Given the description of an element on the screen output the (x, y) to click on. 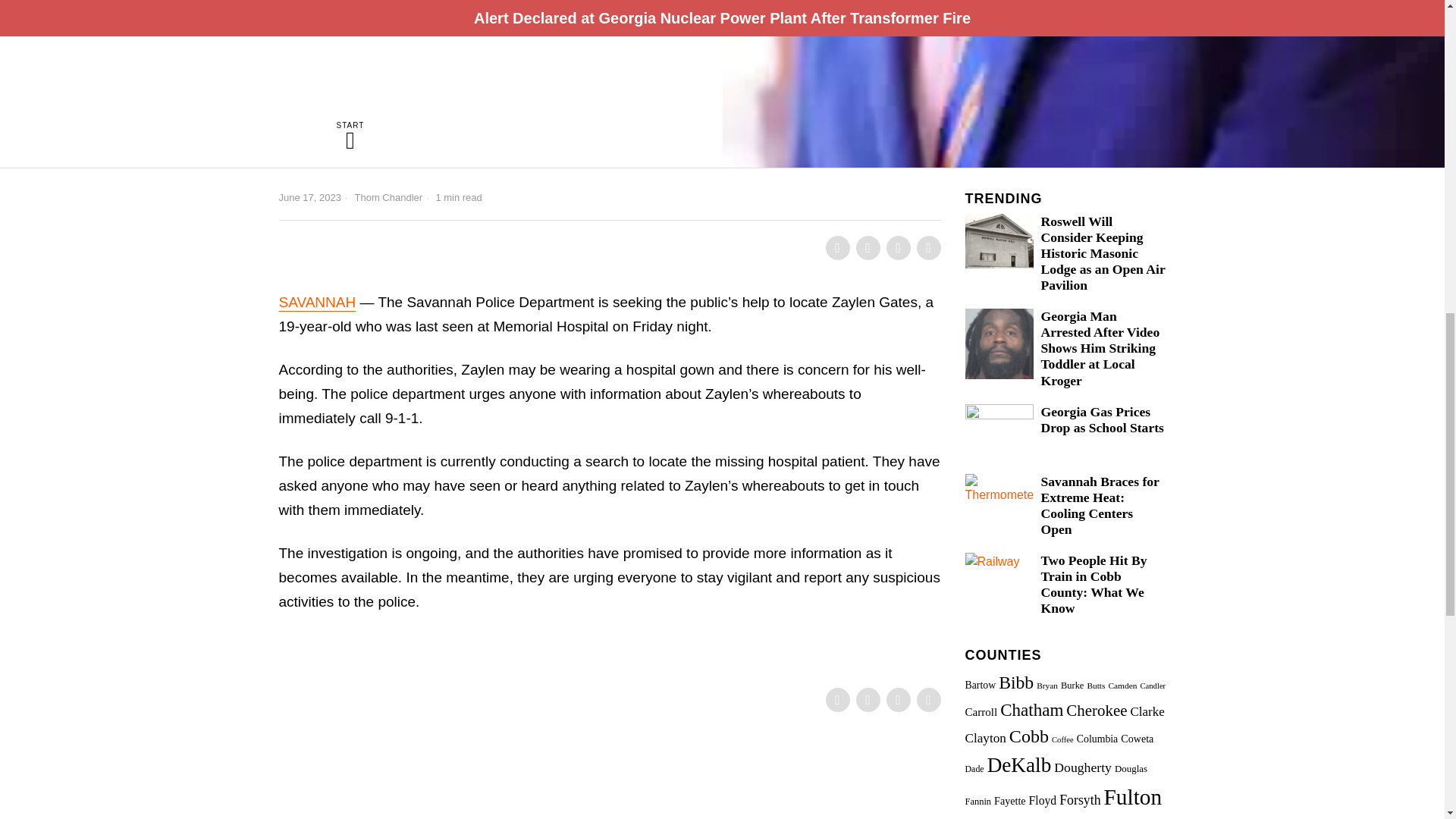
SAVANNAH (317, 302)
Savannah Braces for Extreme Heat: Cooling Centers Open (1103, 505)
Thom Chandler (389, 197)
17 Jun, 2023 08:56:47 (309, 197)
Two People Hit By Train in Cobb County: What We Know (1103, 584)
Georgia Gas Prices Drop as School Starts (1103, 419)
